Given the description of an element on the screen output the (x, y) to click on. 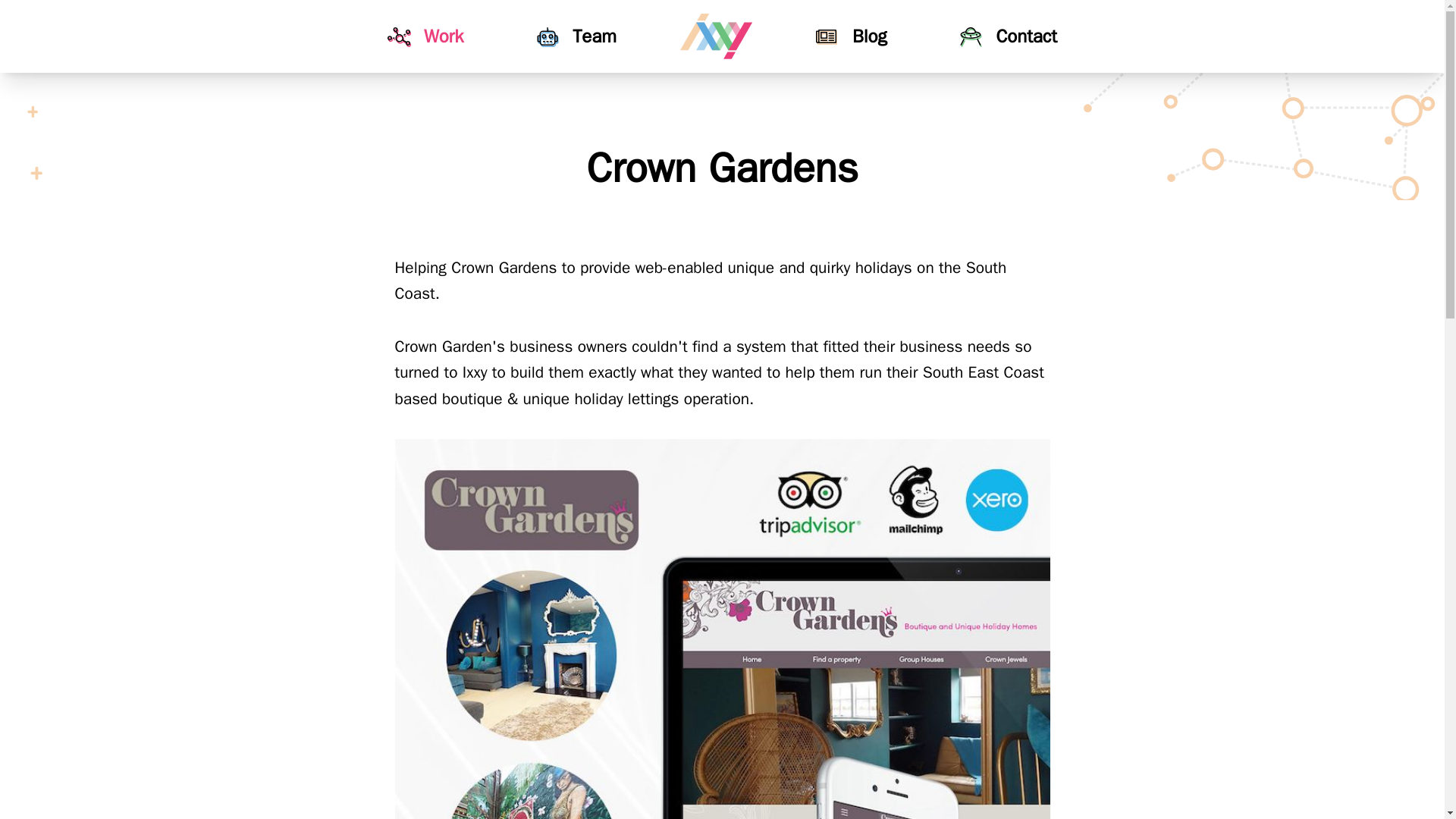
Blog (851, 35)
Contact (1007, 35)
Team (576, 35)
Work (425, 35)
